Given the description of an element on the screen output the (x, y) to click on. 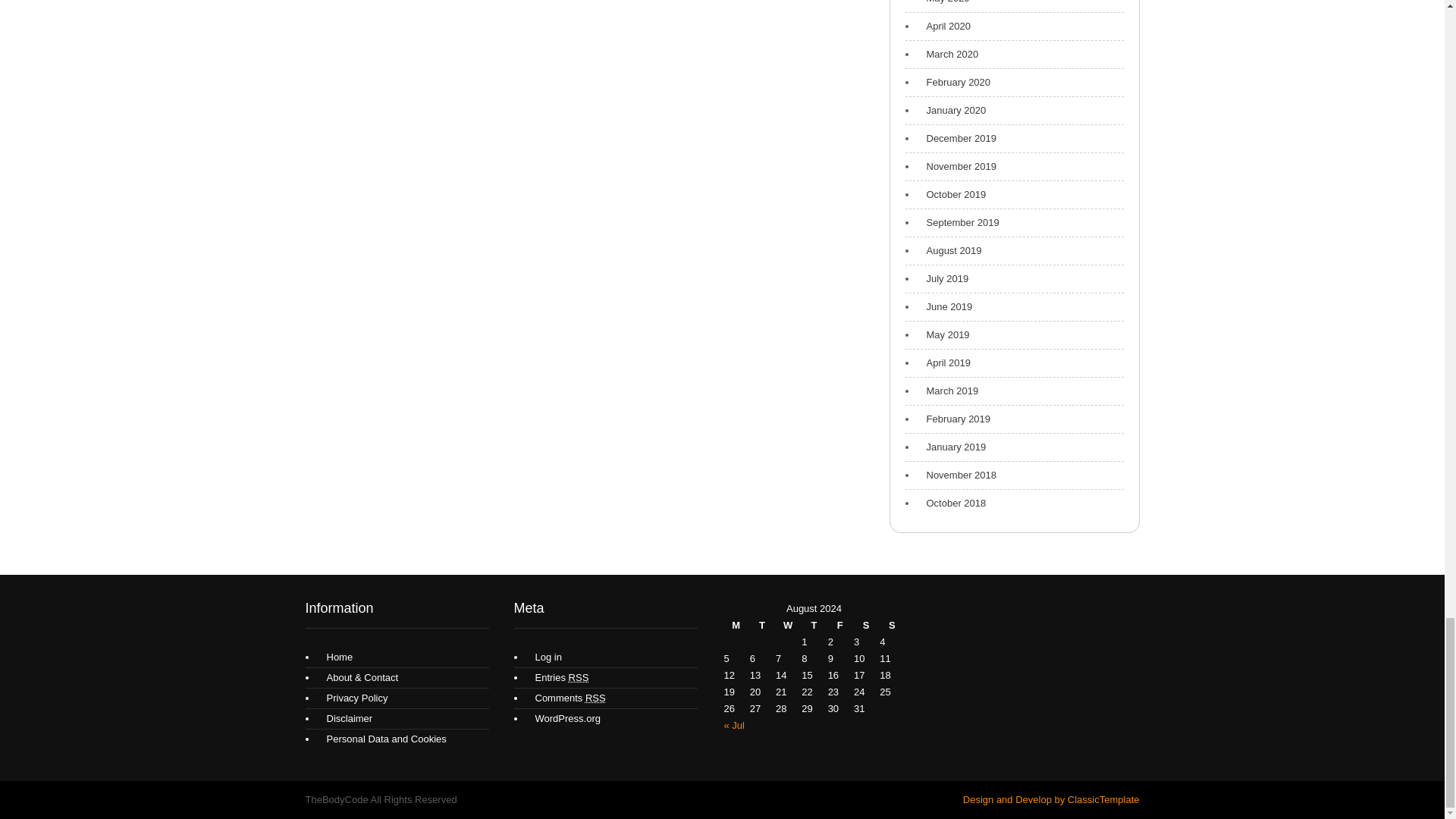
Friday (839, 625)
Thursday (813, 625)
Sunday (891, 625)
Saturday (865, 625)
Really Simple Syndication (579, 677)
Really Simple Syndication (595, 697)
Monday (735, 625)
Tuesday (761, 625)
Wednesday (787, 625)
